Given the description of an element on the screen output the (x, y) to click on. 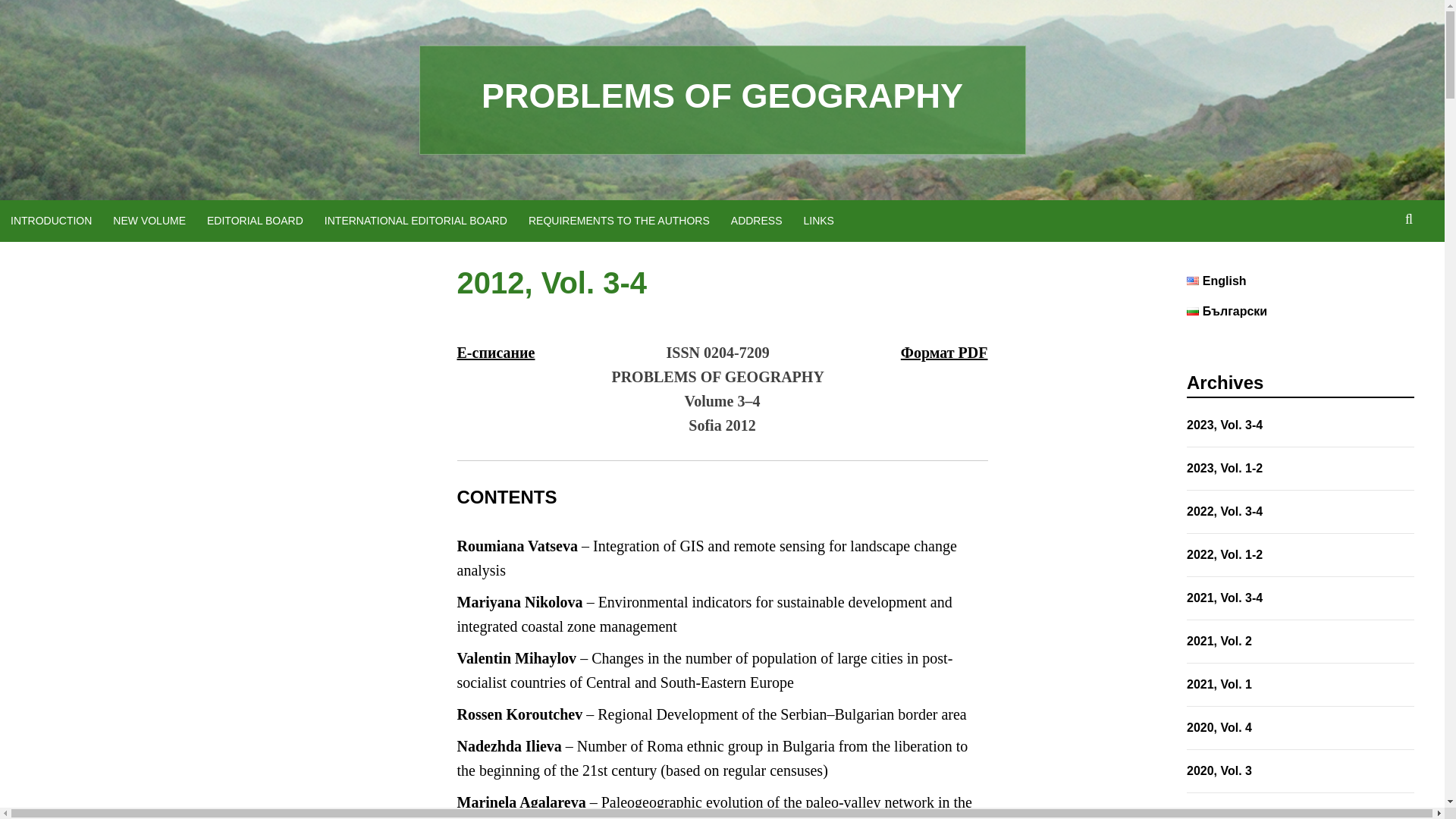
PROBLEMS OF GEOGRAPHY (721, 95)
LINKS (818, 220)
REQUIREMENTS TO THE AUTHORS (619, 220)
ADDRESS (756, 220)
INTRODUCTION (50, 220)
NEW VOLUME (148, 220)
INTERNATIONAL EDITORIAL BOARD (416, 220)
EDITORIAL BOARD (255, 220)
